Given the description of an element on the screen output the (x, y) to click on. 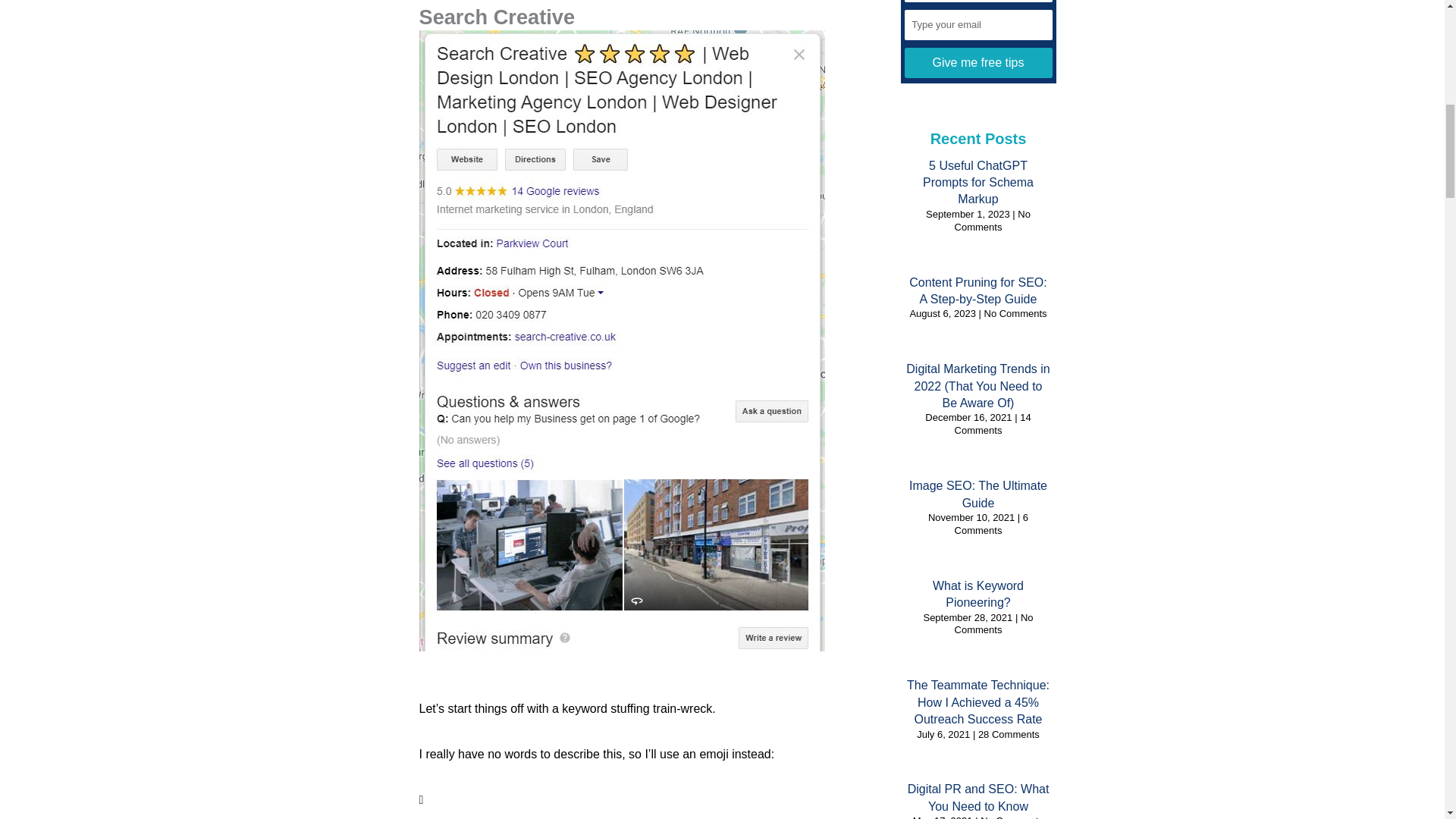
What is Keyword Pioneering? (978, 594)
Content Pruning for SEO: A Step-by-Step Guide (977, 290)
Image SEO: The Ultimate Guide (977, 493)
Digital PR and SEO: What You Need to Know (978, 797)
Give me free tips (977, 62)
5 Useful ChatGPT Prompts for Schema Markup (978, 182)
